Given the description of an element on the screen output the (x, y) to click on. 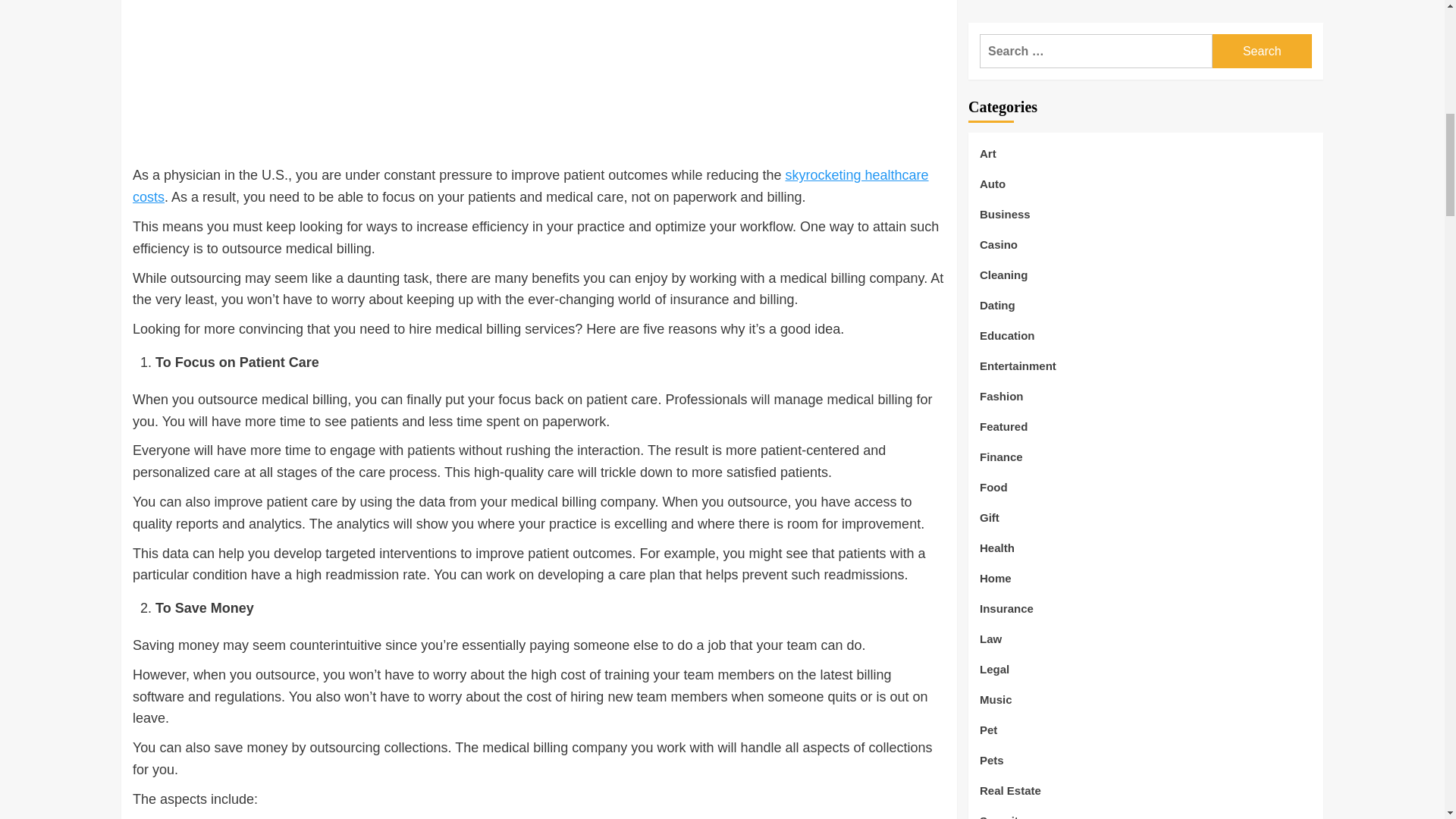
skyrocketing healthcare costs (530, 185)
